Given the description of an element on the screen output the (x, y) to click on. 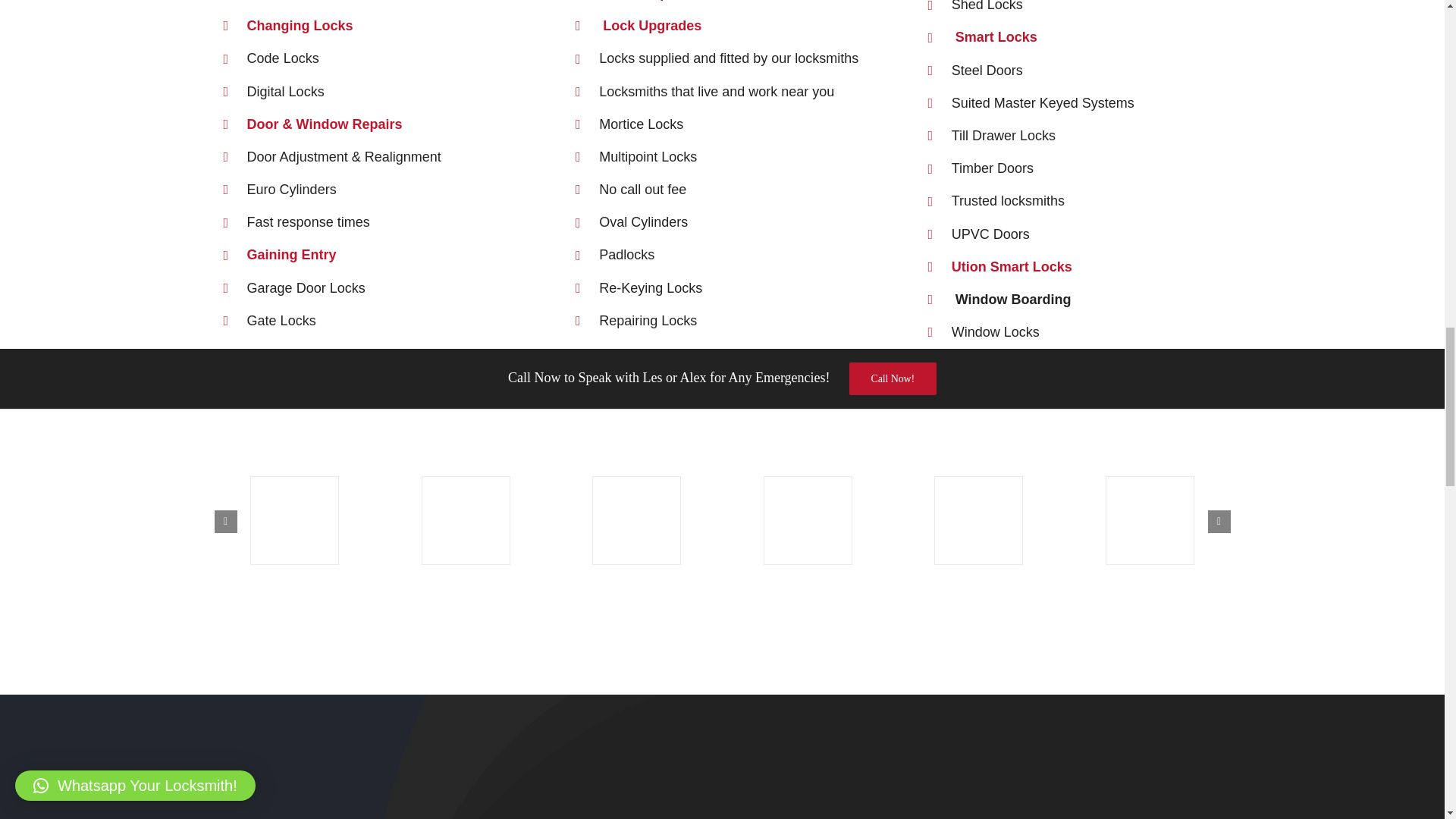
Gaining Entry (291, 254)
Changing Locks (300, 25)
